Given the description of an element on the screen output the (x, y) to click on. 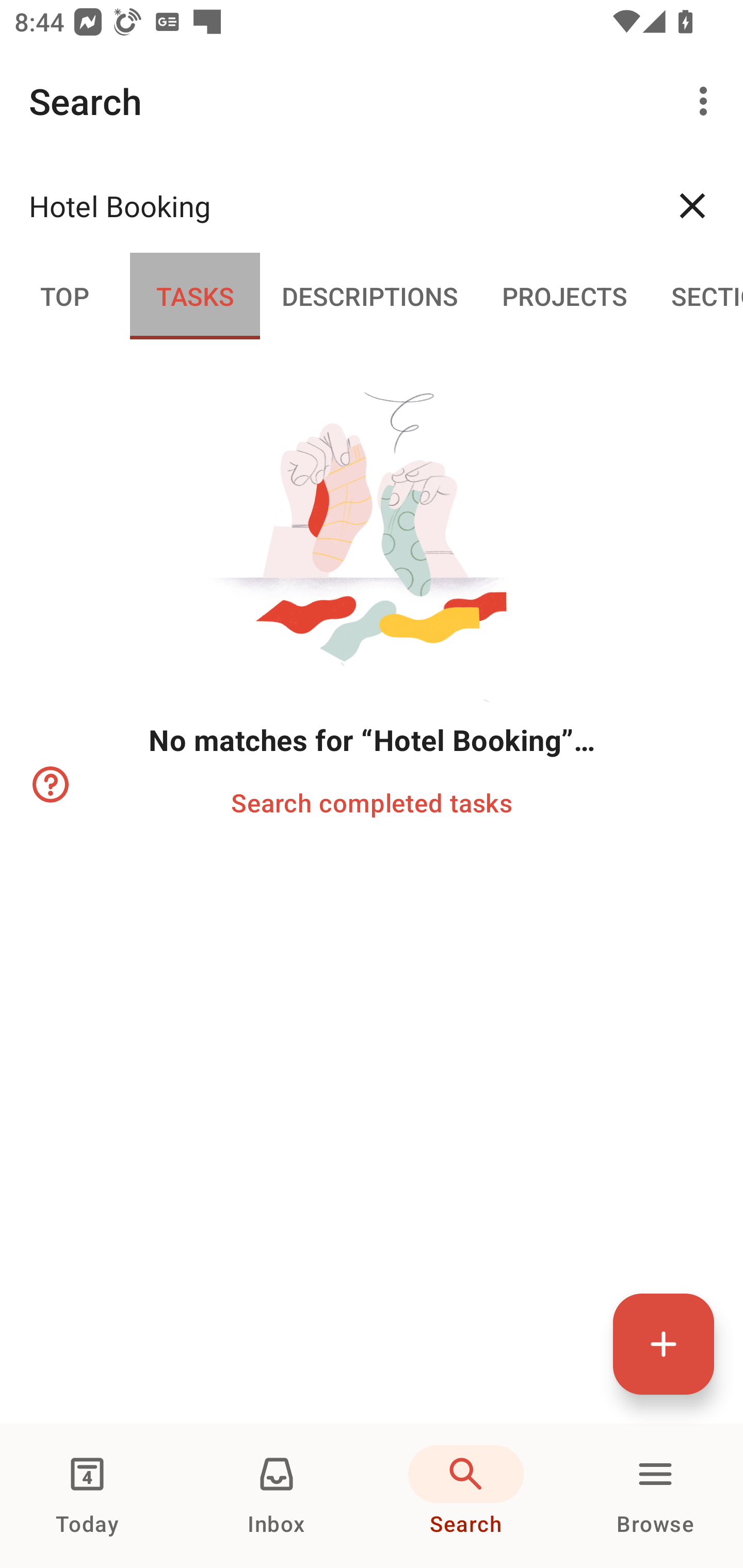
Search More options (371, 100)
More options (706, 101)
Hotel Booking (335, 205)
Clear (692, 205)
Top TOP (65, 295)
Descriptions DESCRIPTIONS (370, 295)
Projects PROJECTS (564, 295)
Learn how to refine your search (48, 784)
Search completed tasks (371, 801)
Quick add (663, 1343)
Today (87, 1495)
Inbox (276, 1495)
Browse (655, 1495)
